Given the description of an element on the screen output the (x, y) to click on. 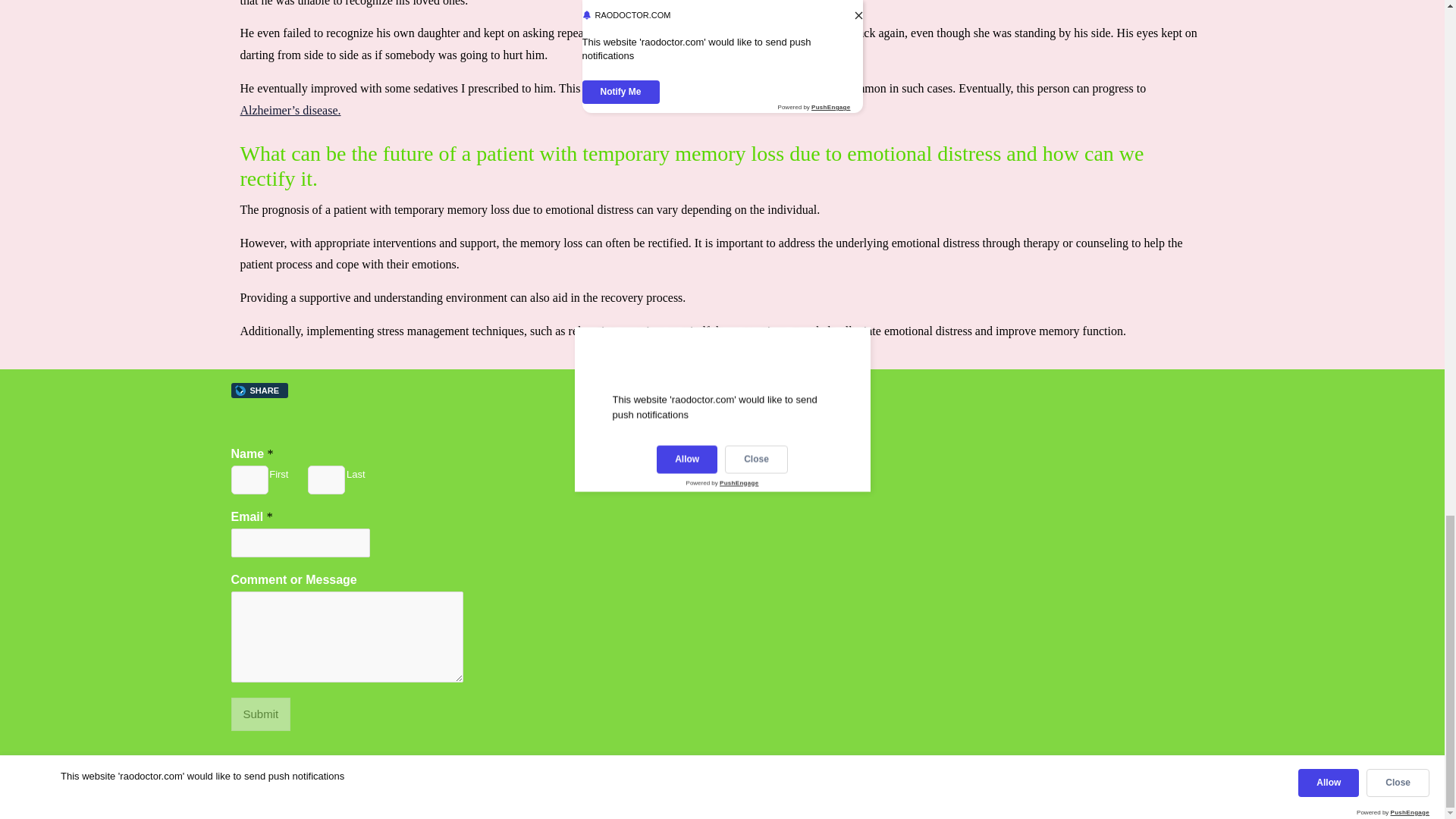
Submit (259, 714)
SHARE  (259, 390)
Blog WordPress Theme (623, 780)
